Given the description of an element on the screen output the (x, y) to click on. 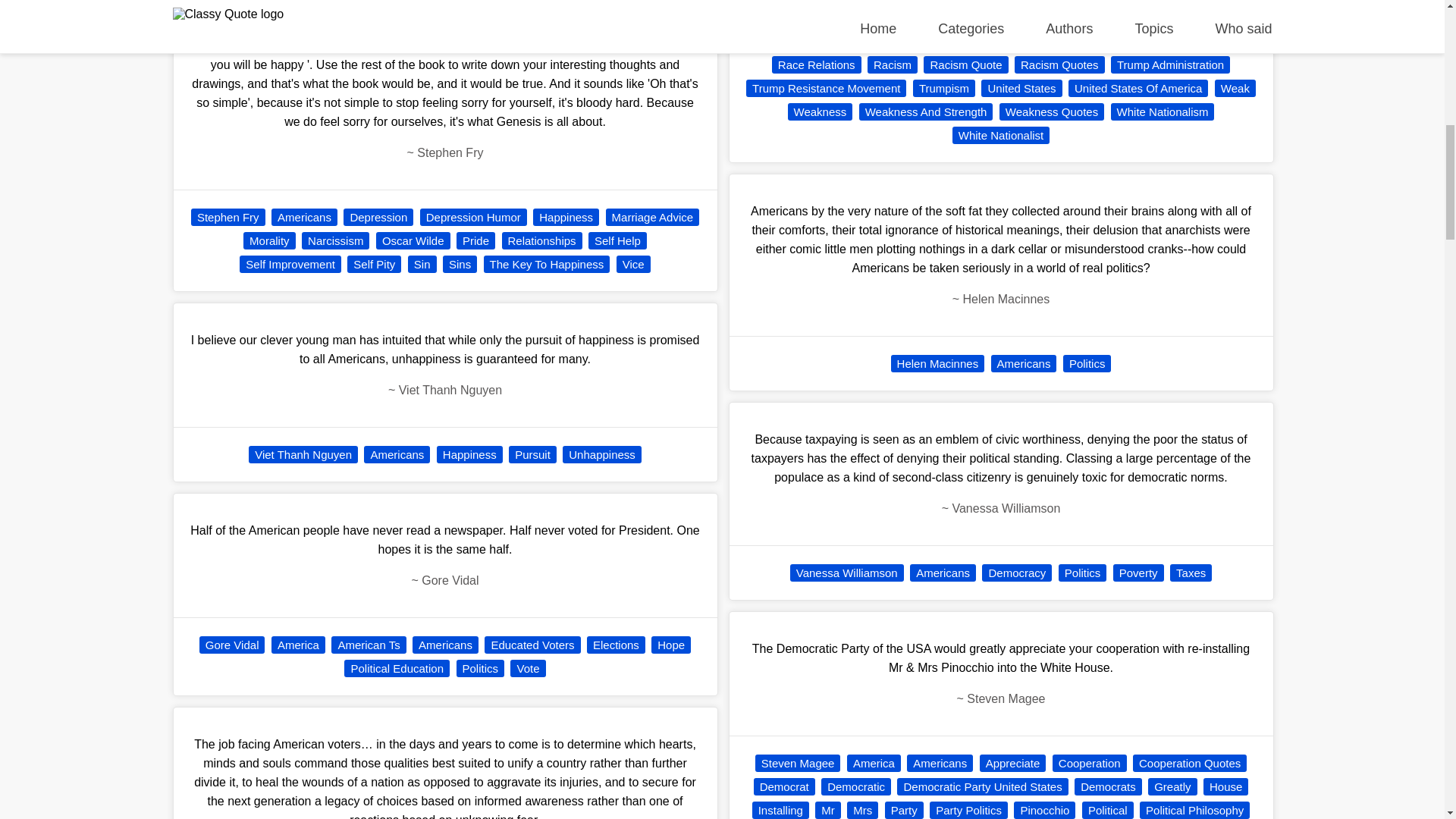
Americans (303, 217)
Marriage Advice (652, 217)
Depression Humor (473, 217)
Narcissism (335, 240)
Morality (269, 240)
Depression (378, 217)
Stephen Fry (227, 217)
Happiness (565, 217)
